Given the description of an element on the screen output the (x, y) to click on. 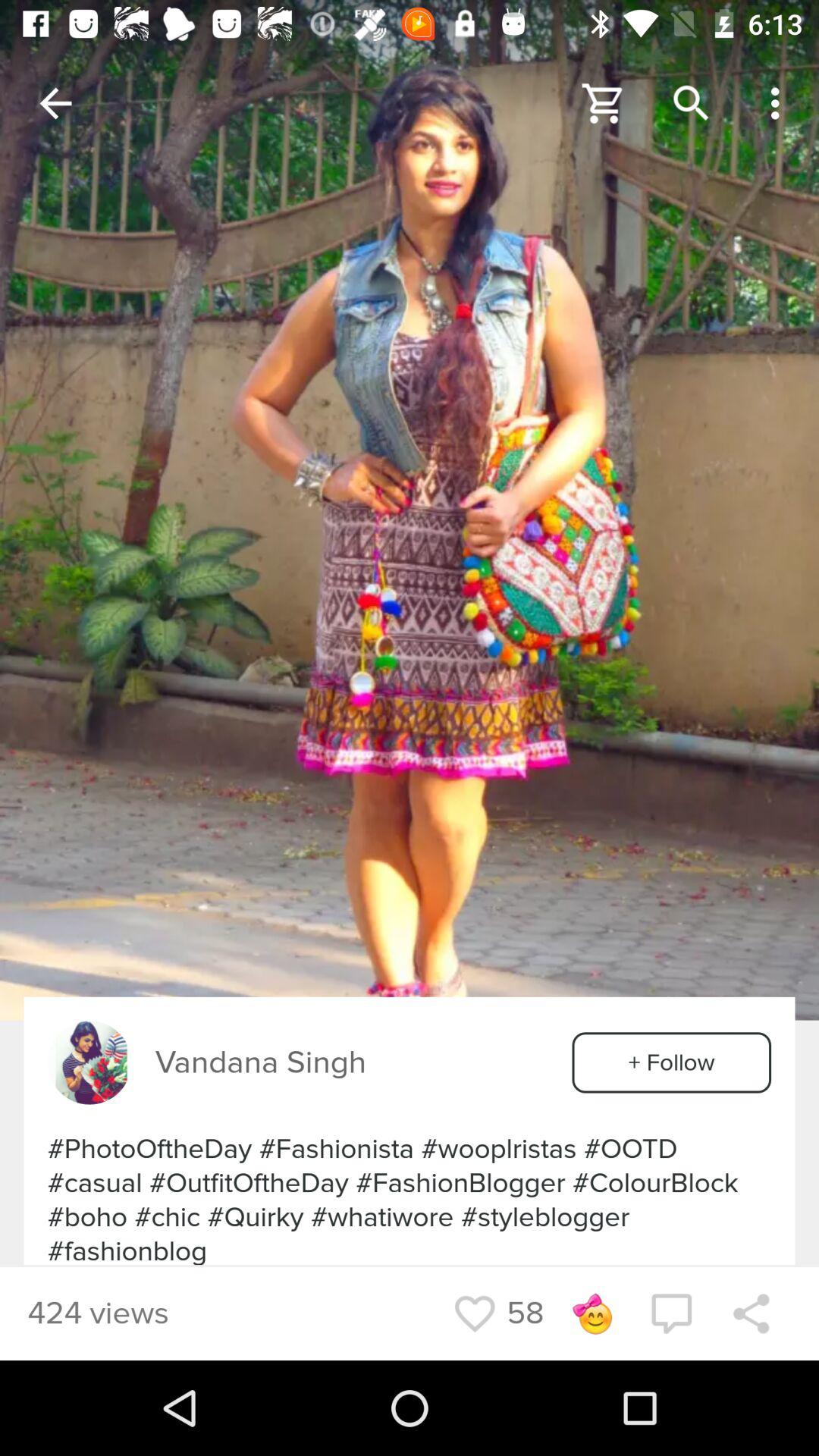
click the like option (474, 1313)
